Given the description of an element on the screen output the (x, y) to click on. 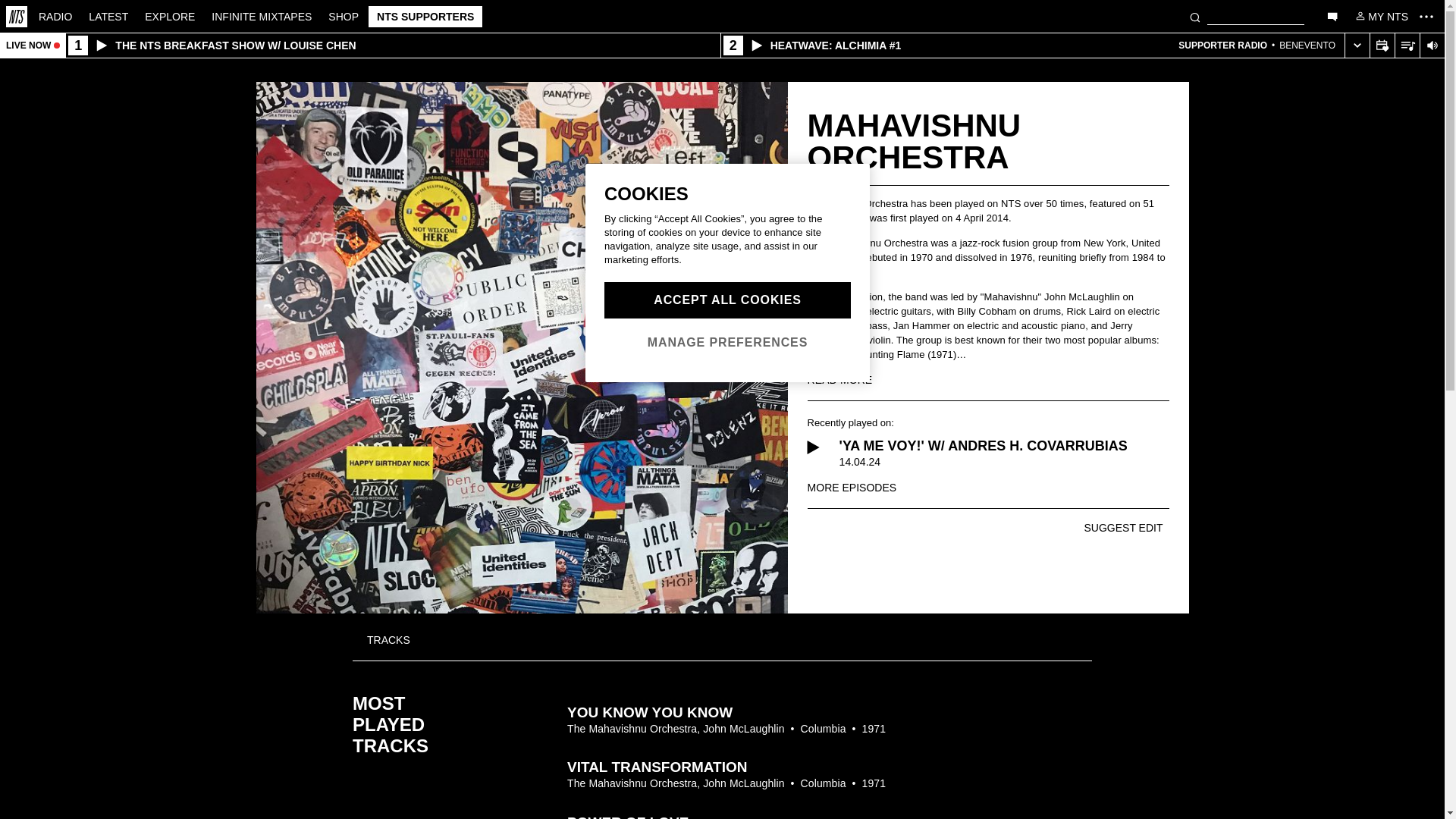
SHOP (343, 15)
Toggle navigation menu (1425, 16)
INFINITE MIXTAPES (261, 15)
MY NTS (1380, 15)
RADIO (55, 15)
NTS SUPPORTERS (424, 16)
LATEST (108, 15)
EXPLORE (169, 15)
